Given the description of an element on the screen output the (x, y) to click on. 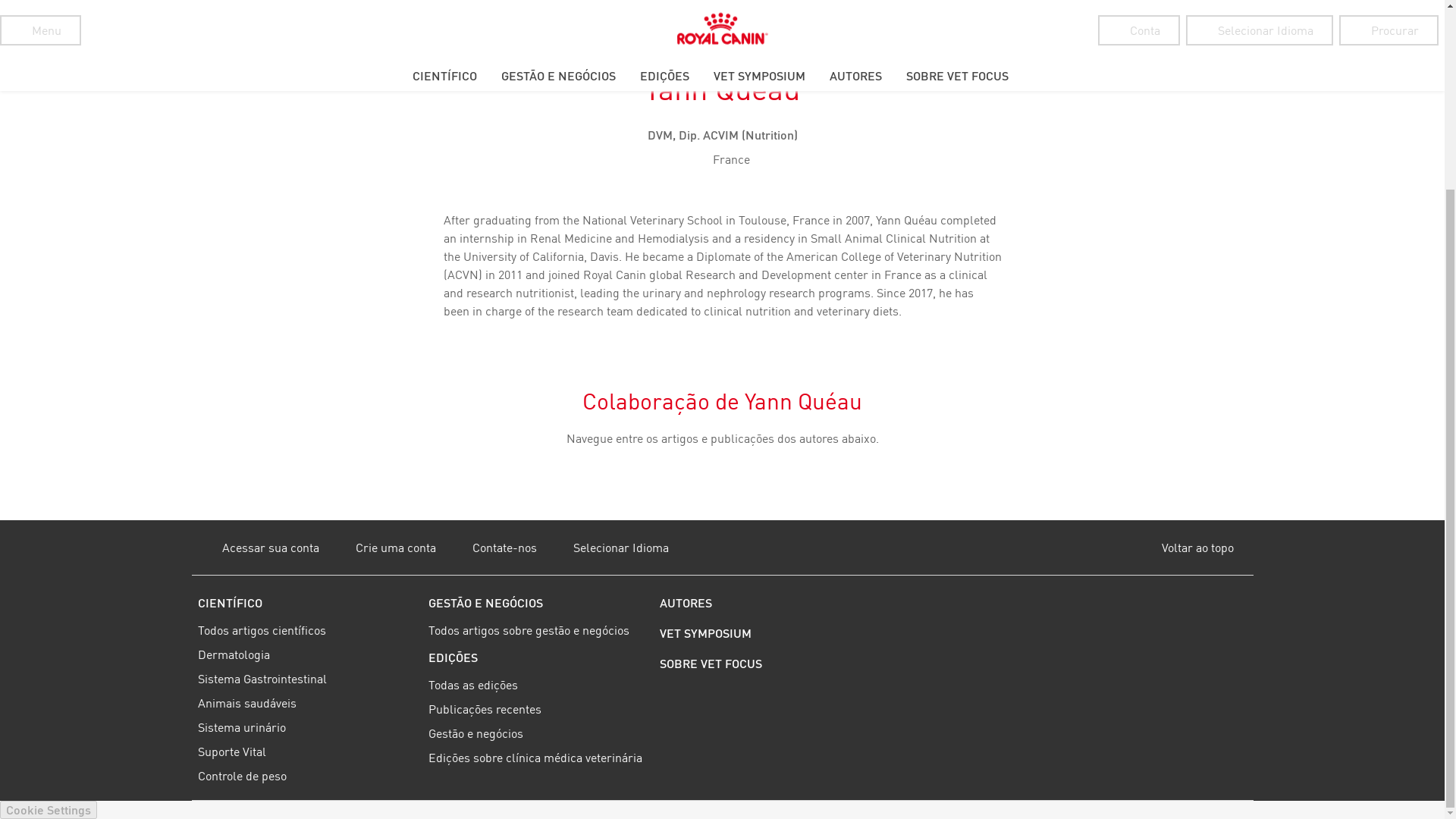
Urinary (306, 726)
Create an account (379, 547)
Dermatology (306, 654)
SOBRE VET FOCUS (769, 663)
Weight management (306, 775)
Acessar sua conta (254, 547)
Suporte Vital (306, 751)
All practice management articles (537, 630)
VET SYMPOSIUM (769, 633)
Voltar ao topo (1191, 547)
